Given the description of an element on the screen output the (x, y) to click on. 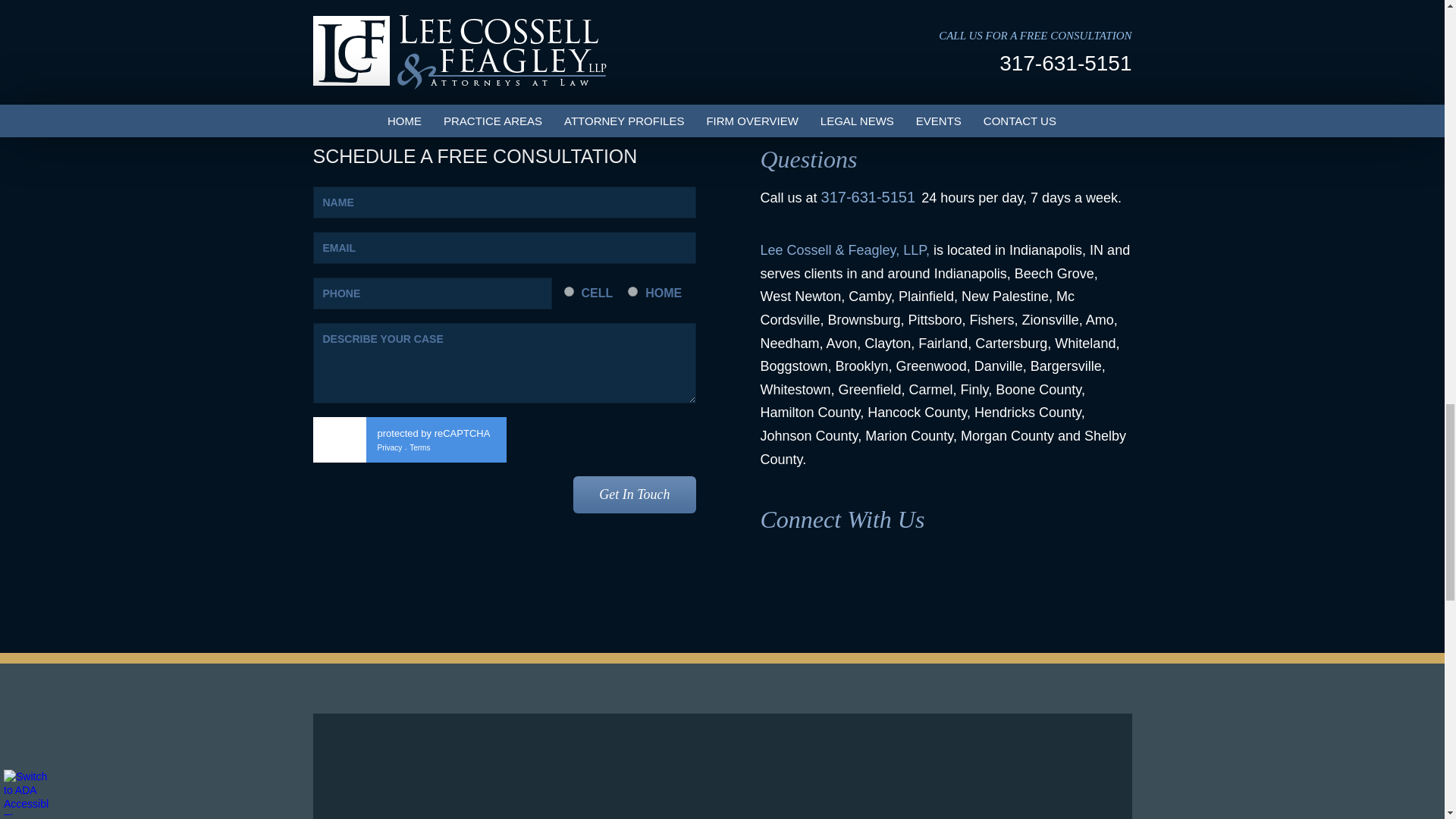
Get In Touch (634, 494)
PHONE (432, 293)
Cell (568, 291)
EMAIL (504, 247)
Home (632, 291)
2022-02-16T15:09:38-0800 (535, 58)
NAME (504, 202)
